Given the description of an element on the screen output the (x, y) to click on. 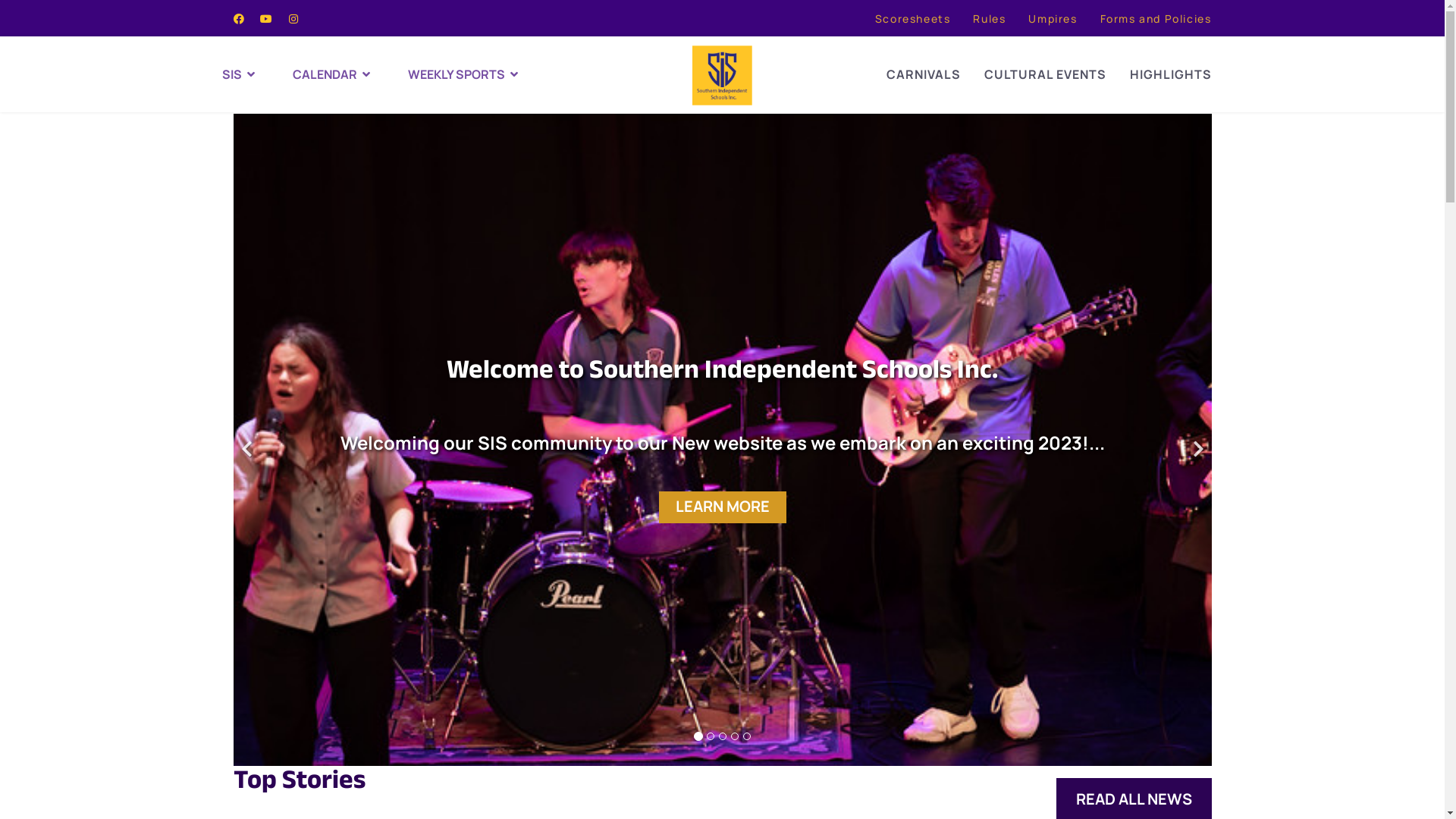
HIGHLIGHTS Element type: text (1170, 73)
SIS Element type: text (256, 74)
CARNIVALS Element type: text (922, 73)
CULTURAL EVENTS Element type: text (1045, 73)
LEARN MORE Element type: text (721, 507)
Forms and Policies Element type: text (1155, 18)
CALENDAR Element type: text (349, 74)
Scoresheets Element type: text (912, 18)
WEEKLY SPORTS Element type: text (470, 74)
Rules Element type: text (988, 18)
Umpires Element type: text (1052, 18)
